Given the description of an element on the screen output the (x, y) to click on. 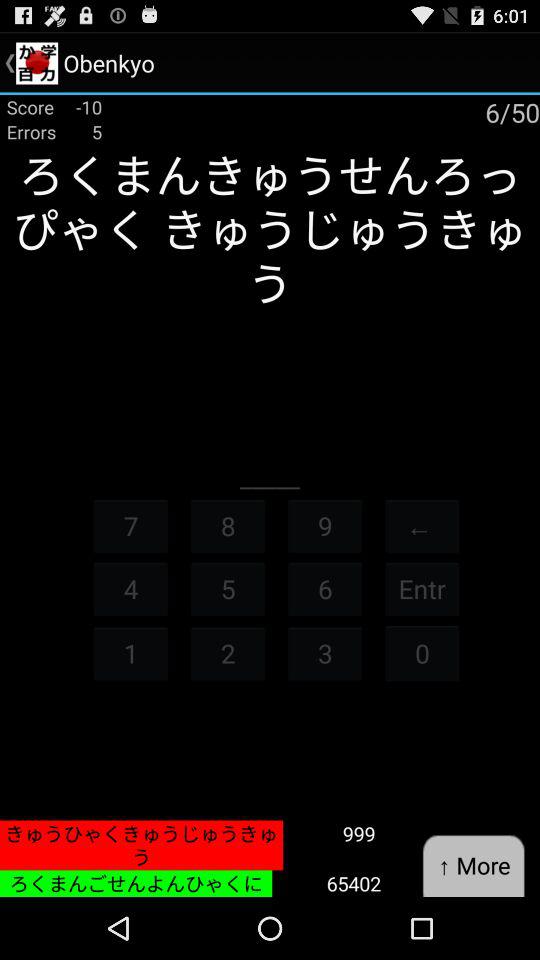
turn off icon next to the 8 item (130, 525)
